Given the description of an element on the screen output the (x, y) to click on. 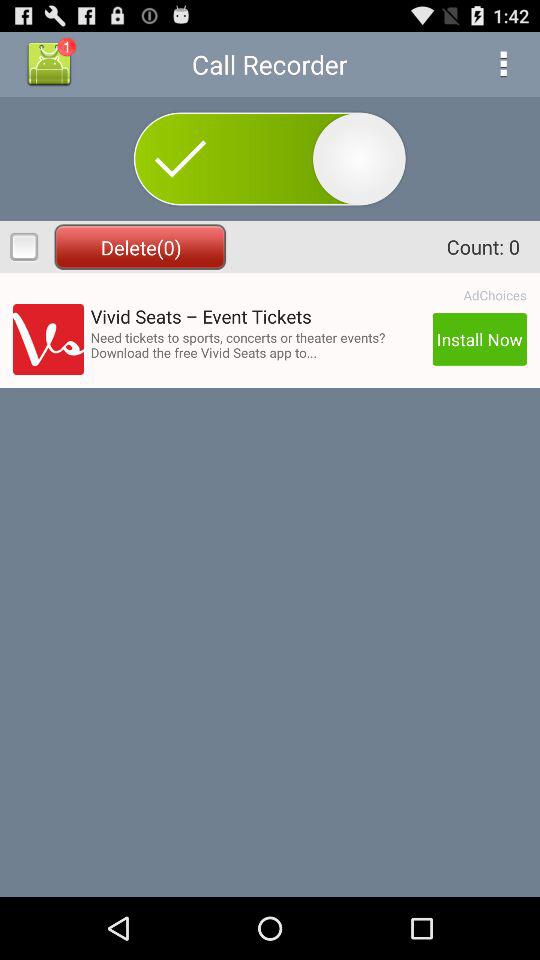
swipe to the install now button (479, 339)
